Given the description of an element on the screen output the (x, y) to click on. 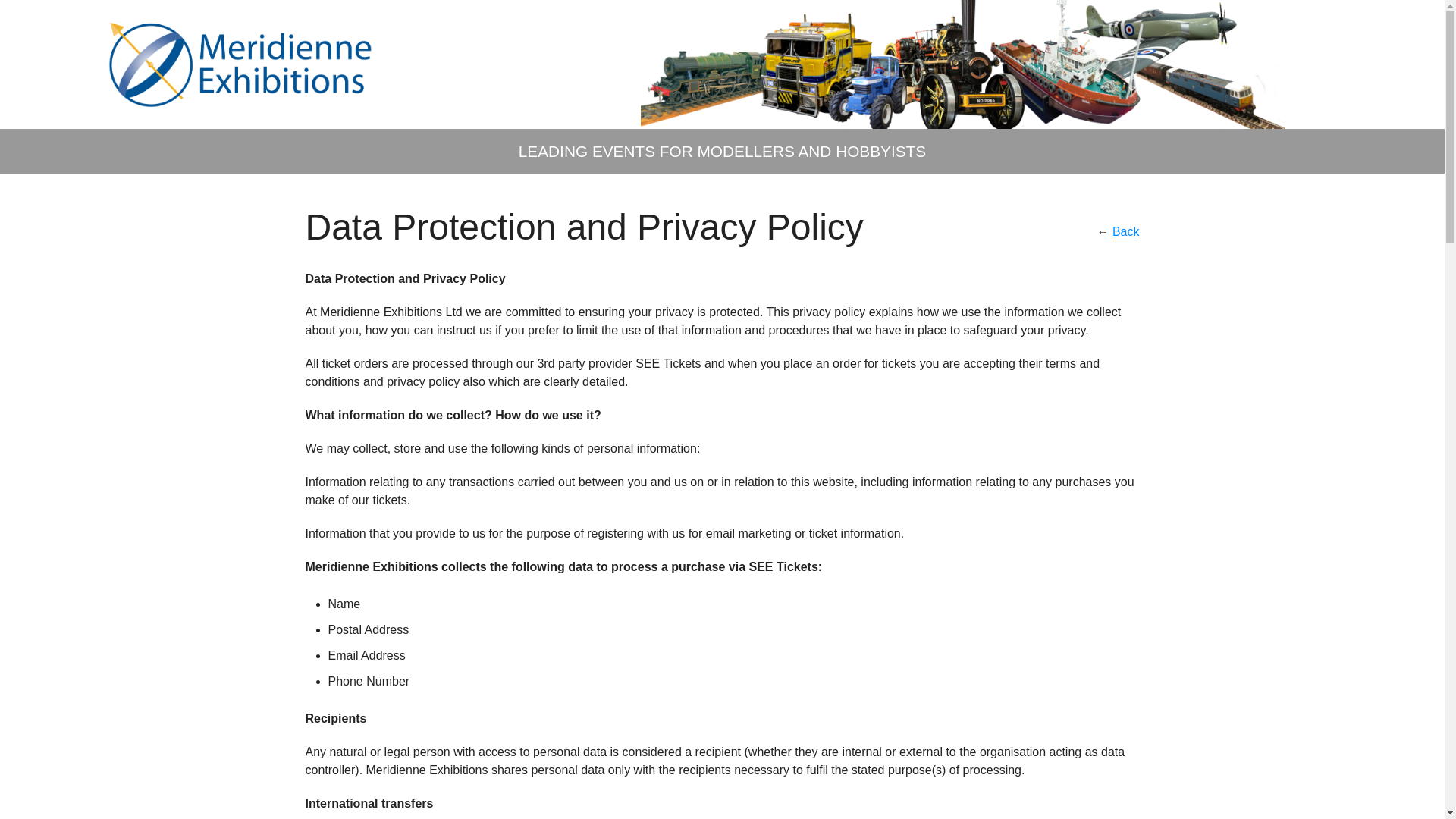
Back (1126, 231)
